Given the description of an element on the screen output the (x, y) to click on. 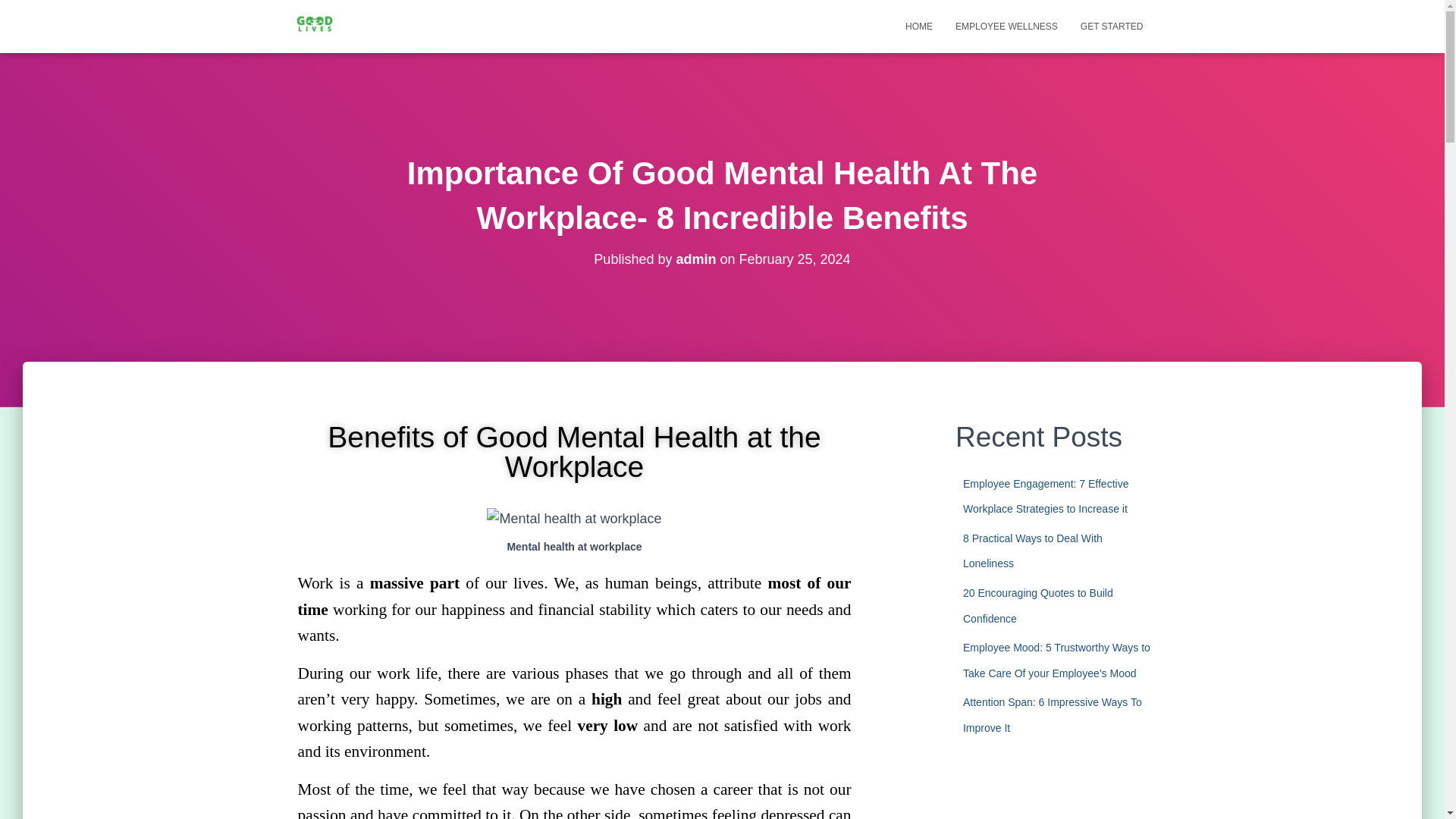
8 Practical Ways to Deal With Loneliness (1032, 551)
GET STARTED (1111, 26)
HOME (918, 26)
Mental health at workplace (573, 518)
Get Started (1111, 26)
20 Encouraging Quotes to Build Confidence (1037, 605)
admin (695, 258)
GoodLives (314, 26)
Employee Wellness (1005, 26)
